Given the description of an element on the screen output the (x, y) to click on. 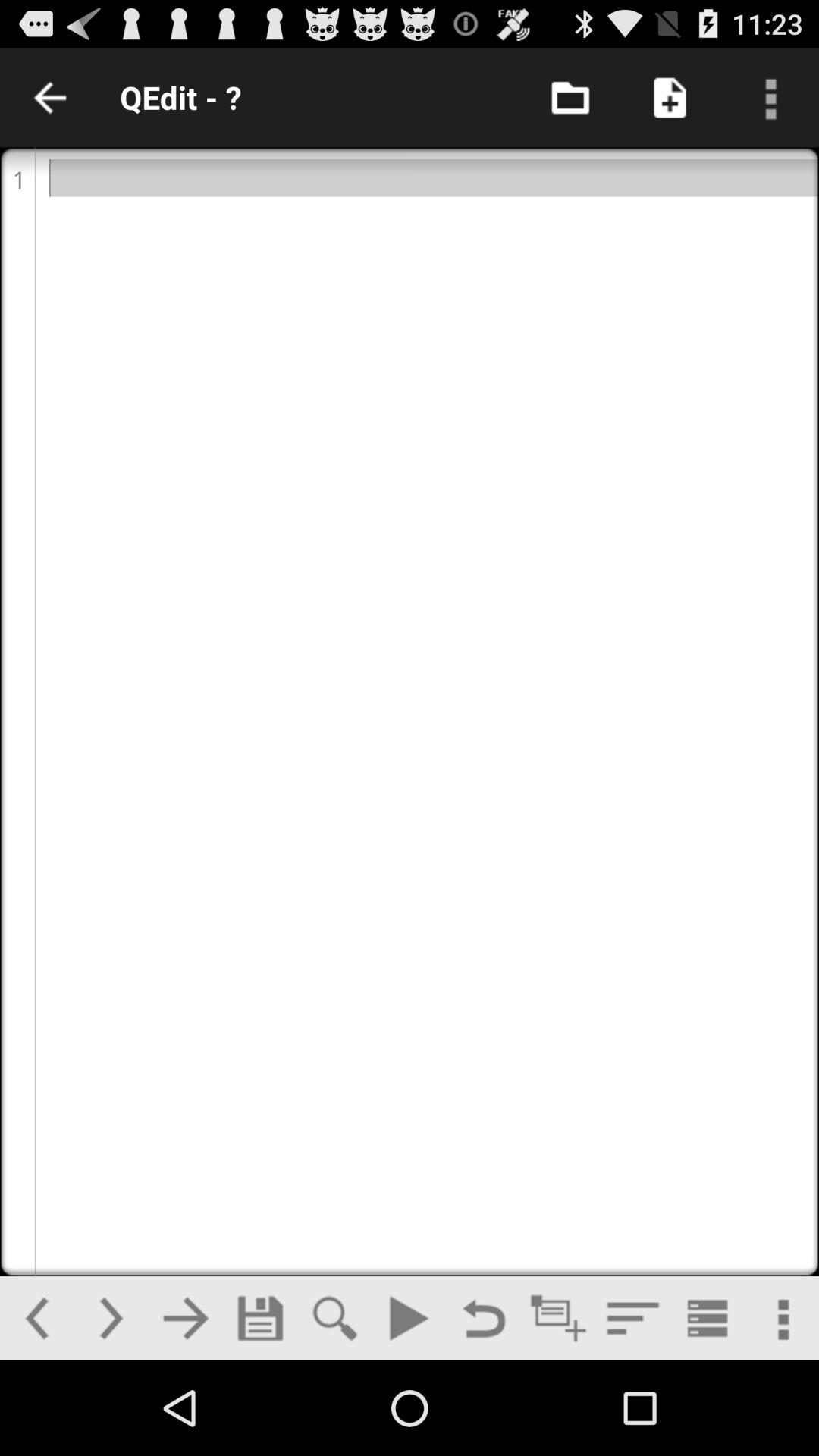
add a code (557, 1318)
